Given the description of an element on the screen output the (x, y) to click on. 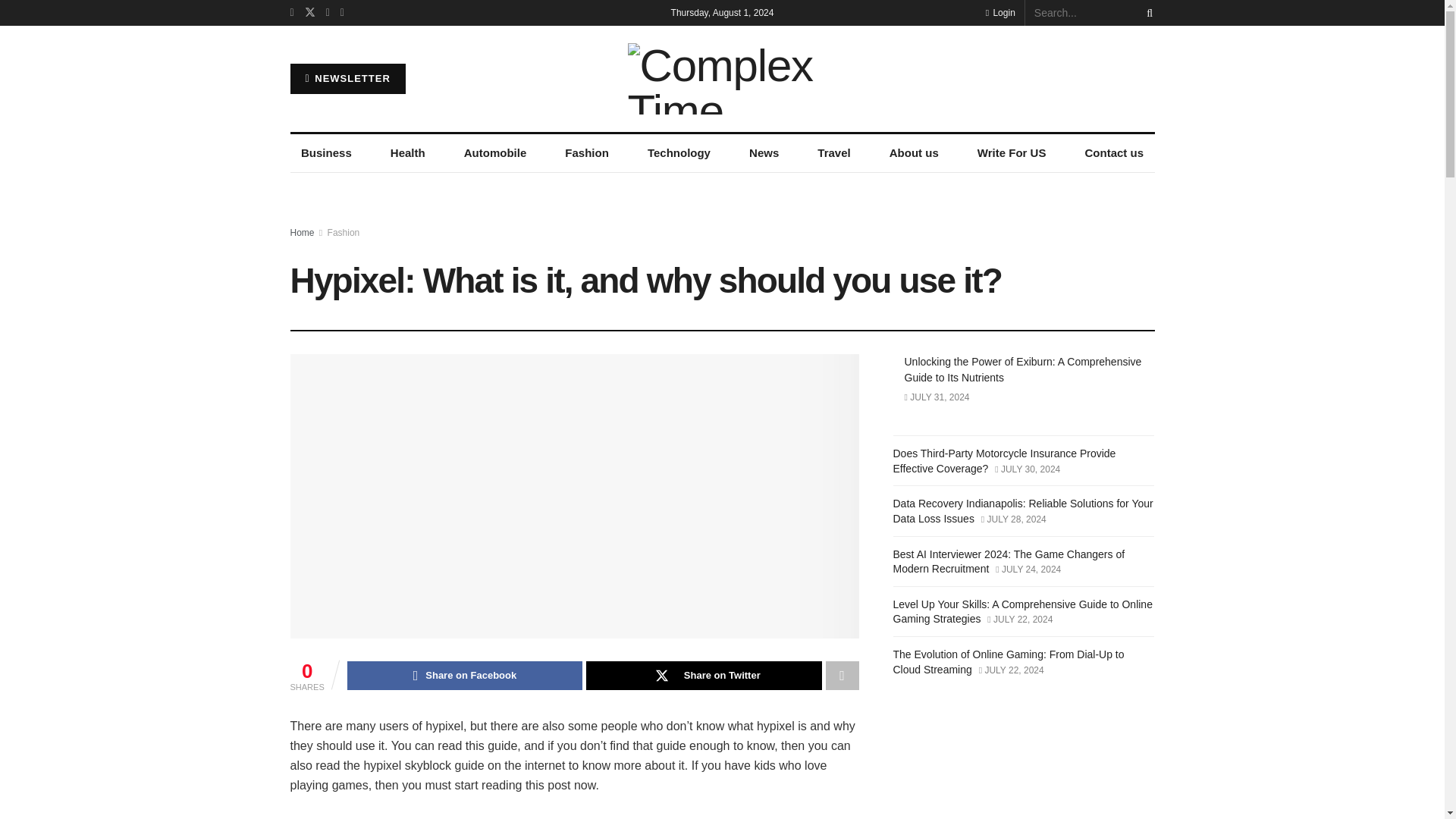
Travel (833, 152)
NEWSLETTER (346, 78)
Contact us (1114, 152)
Health (406, 152)
Technology (678, 152)
About us (913, 152)
Login (999, 12)
Fashion (587, 152)
Automobile (494, 152)
Share on Facebook (464, 675)
Write For US (1011, 152)
News (764, 152)
Fashion (343, 232)
Business (325, 152)
Home (301, 232)
